Given the description of an element on the screen output the (x, y) to click on. 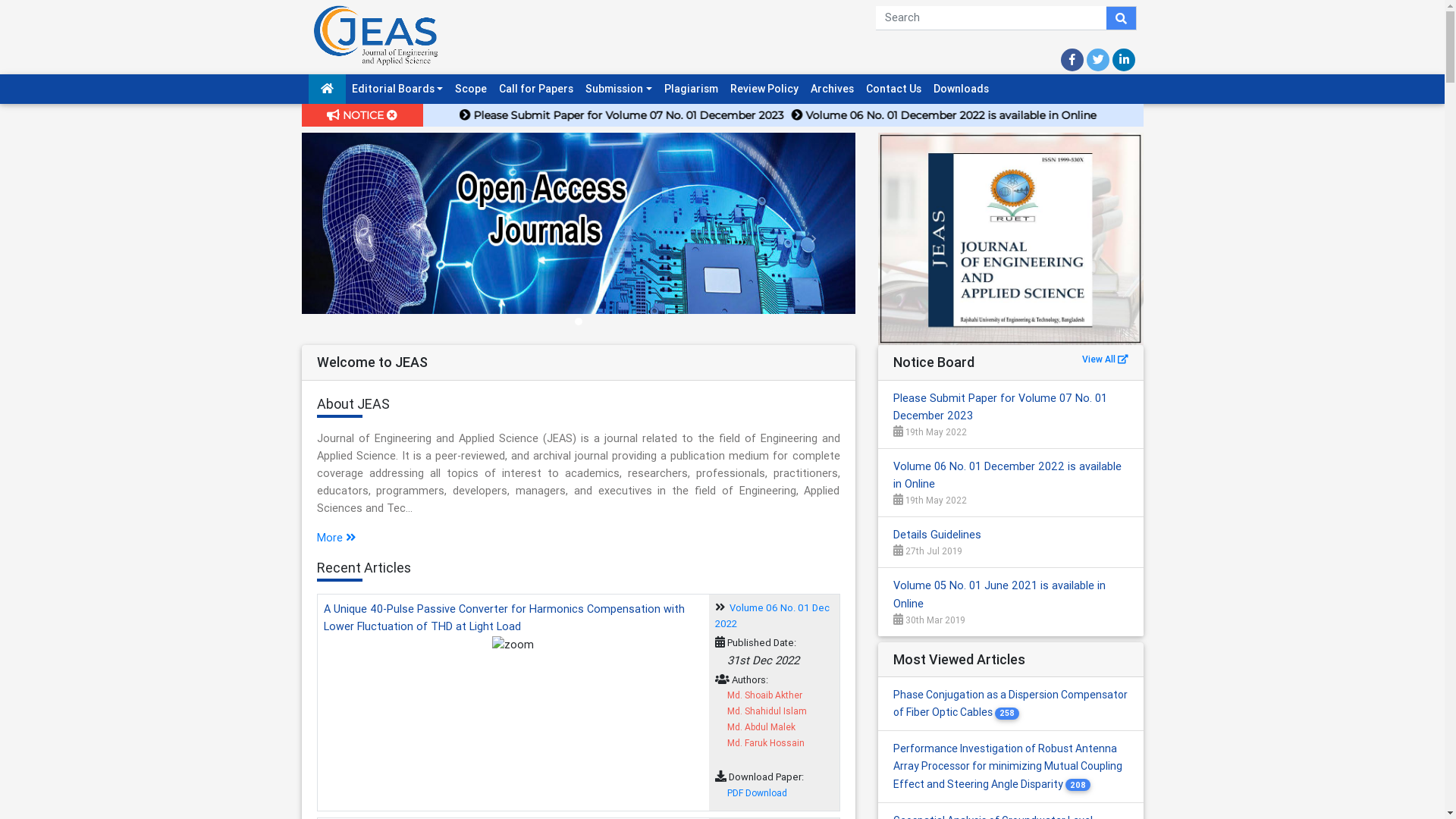
Scope Element type: text (470, 88)
Archives Element type: text (831, 88)
Volume 05 No. 01 June 2021 is available in Online Element type: text (999, 593)
Please Submit Paper for Volume 07 No. 01 December 2023 Element type: text (1000, 406)
Contact Us Element type: text (893, 88)
Previous Element type: text (343, 238)
Editorial Boards Element type: text (397, 88)
View All  Element type: text (1104, 358)
Call for Papers Element type: text (535, 88)
Review Policy Element type: text (764, 88)
Next Element type: text (813, 238)
Submission Element type: text (618, 88)
Downloads Element type: text (960, 88)
More Element type: text (335, 537)
Plagiarism Element type: text (691, 88)
Details Guidelines Element type: text (937, 534)
Volume 06 No. 01 December 2022 is available in Online Element type: text (1007, 474)
